Given the description of an element on the screen output the (x, y) to click on. 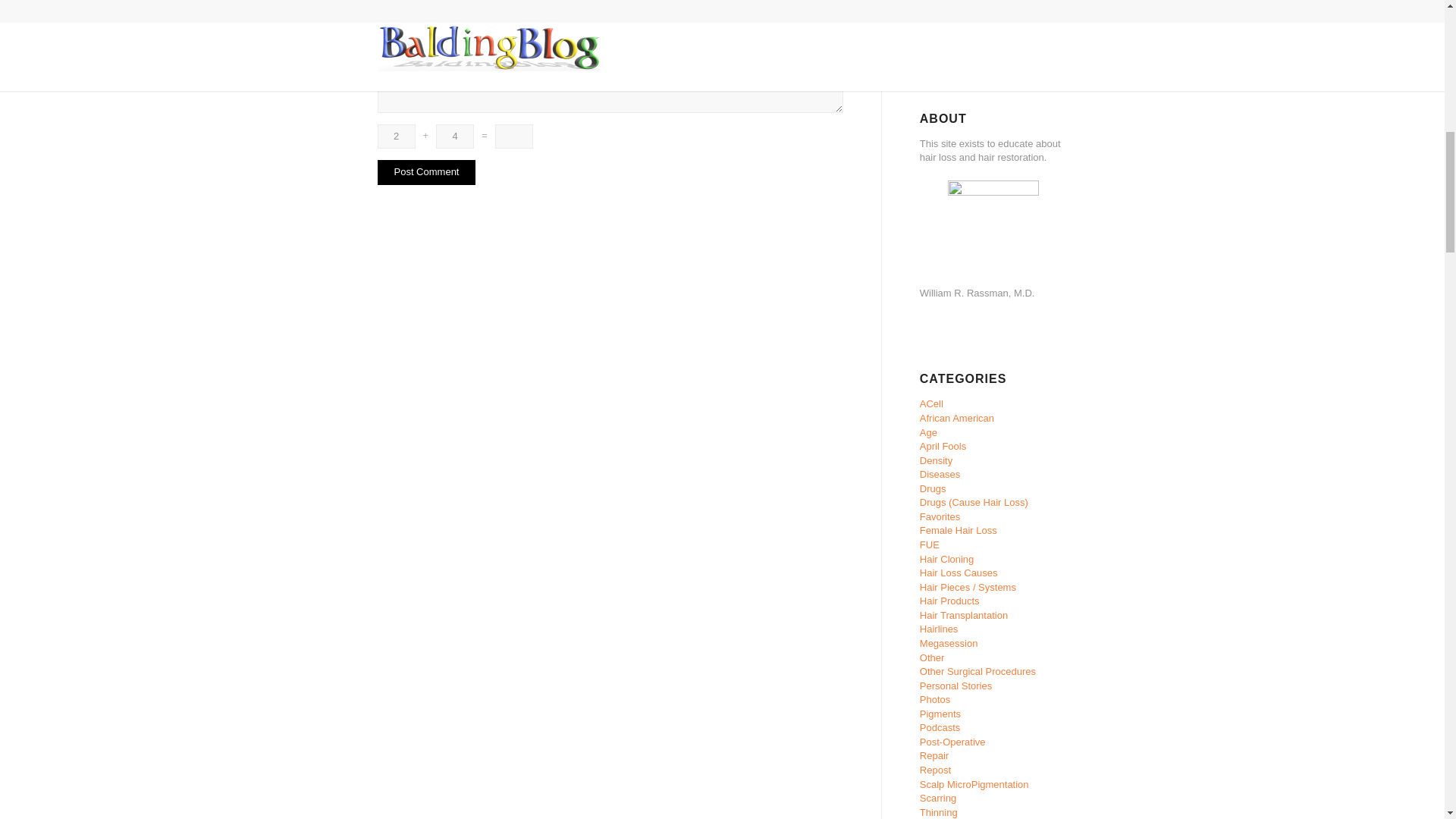
Personal Stories (955, 685)
ACell (931, 403)
Post Comment (426, 172)
Other (932, 657)
4 (454, 136)
Hair Loss Causes (958, 572)
Hairlines (939, 628)
2 (395, 136)
Post Comment (426, 172)
Photos (935, 699)
April Fools (943, 446)
Hair Cloning (947, 559)
Hair Transplantation (963, 614)
Drugs (933, 488)
Favorites (939, 516)
